Given the description of an element on the screen output the (x, y) to click on. 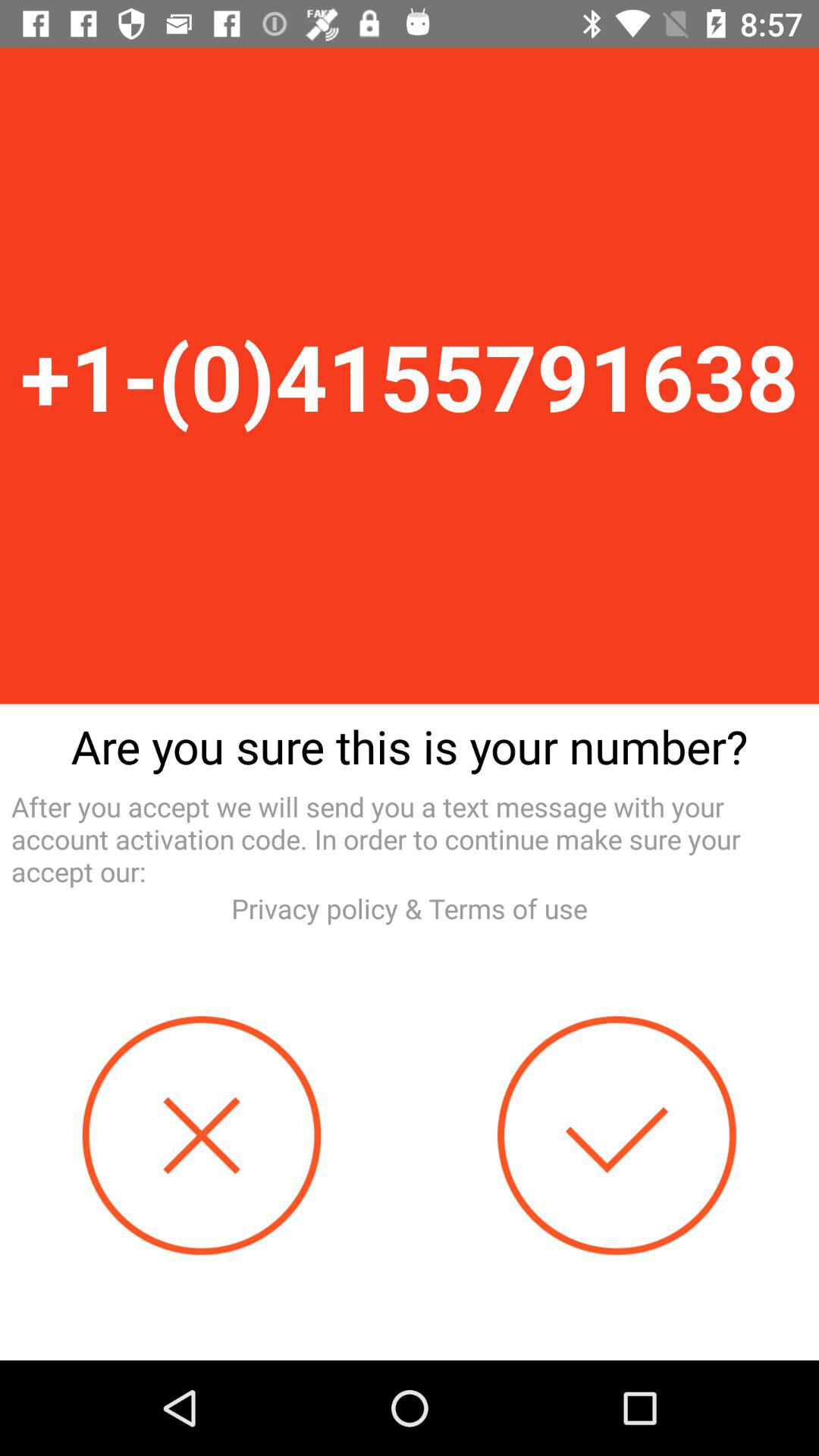
confirm question (616, 1135)
